Given the description of an element on the screen output the (x, y) to click on. 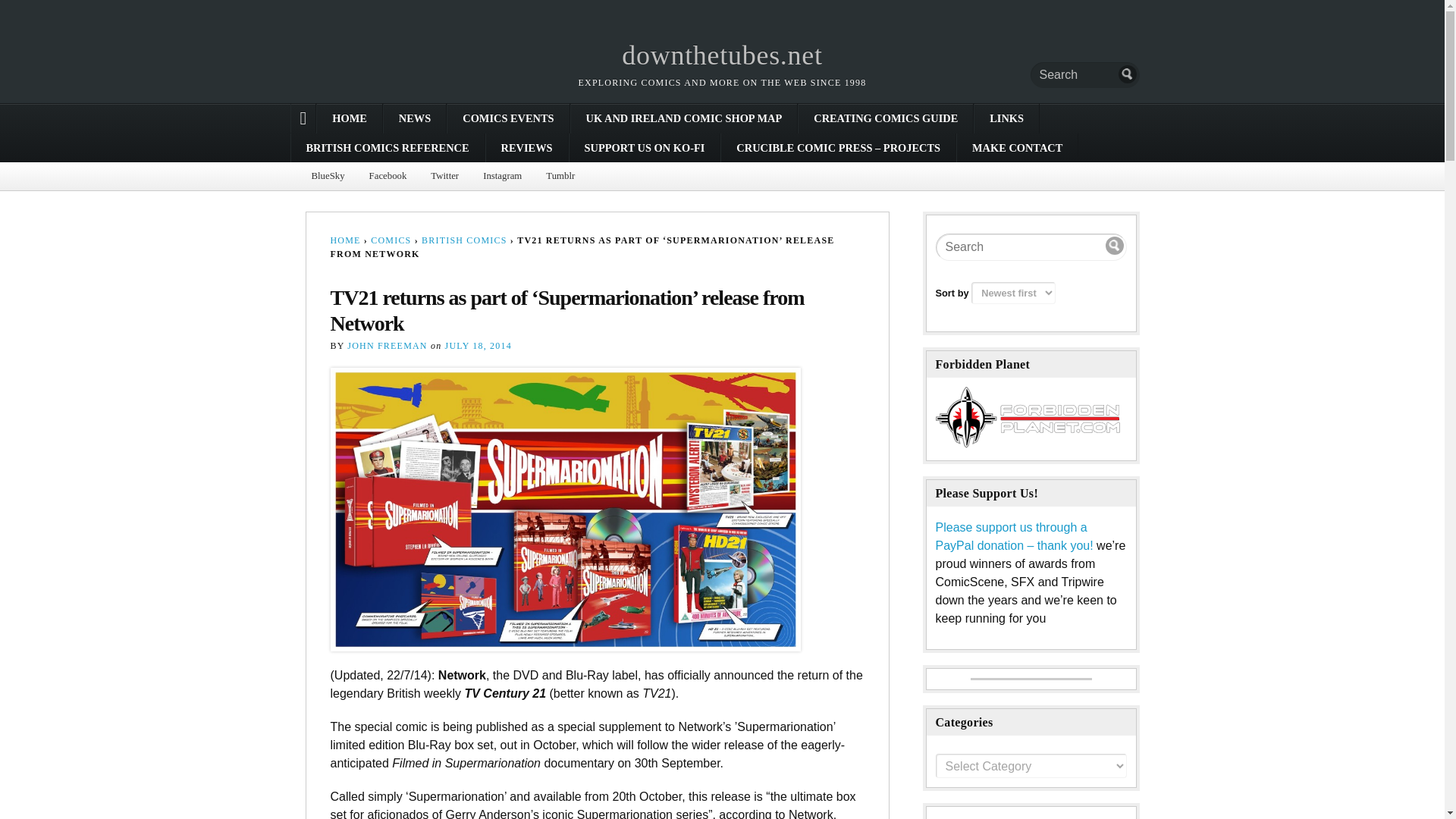
NEWS (414, 118)
BRITISH COMICS REFERENCE (387, 147)
Home (721, 55)
COMICS EVENTS (507, 118)
HOME (349, 118)
LINKS (1006, 118)
CREATING COMICS GUIDE (884, 118)
View all posts by John Freeman (386, 345)
10:56 pm (478, 345)
downthetubes.net (721, 55)
UK AND IRELAND COMIC SHOP MAP (683, 118)
